Given the description of an element on the screen output the (x, y) to click on. 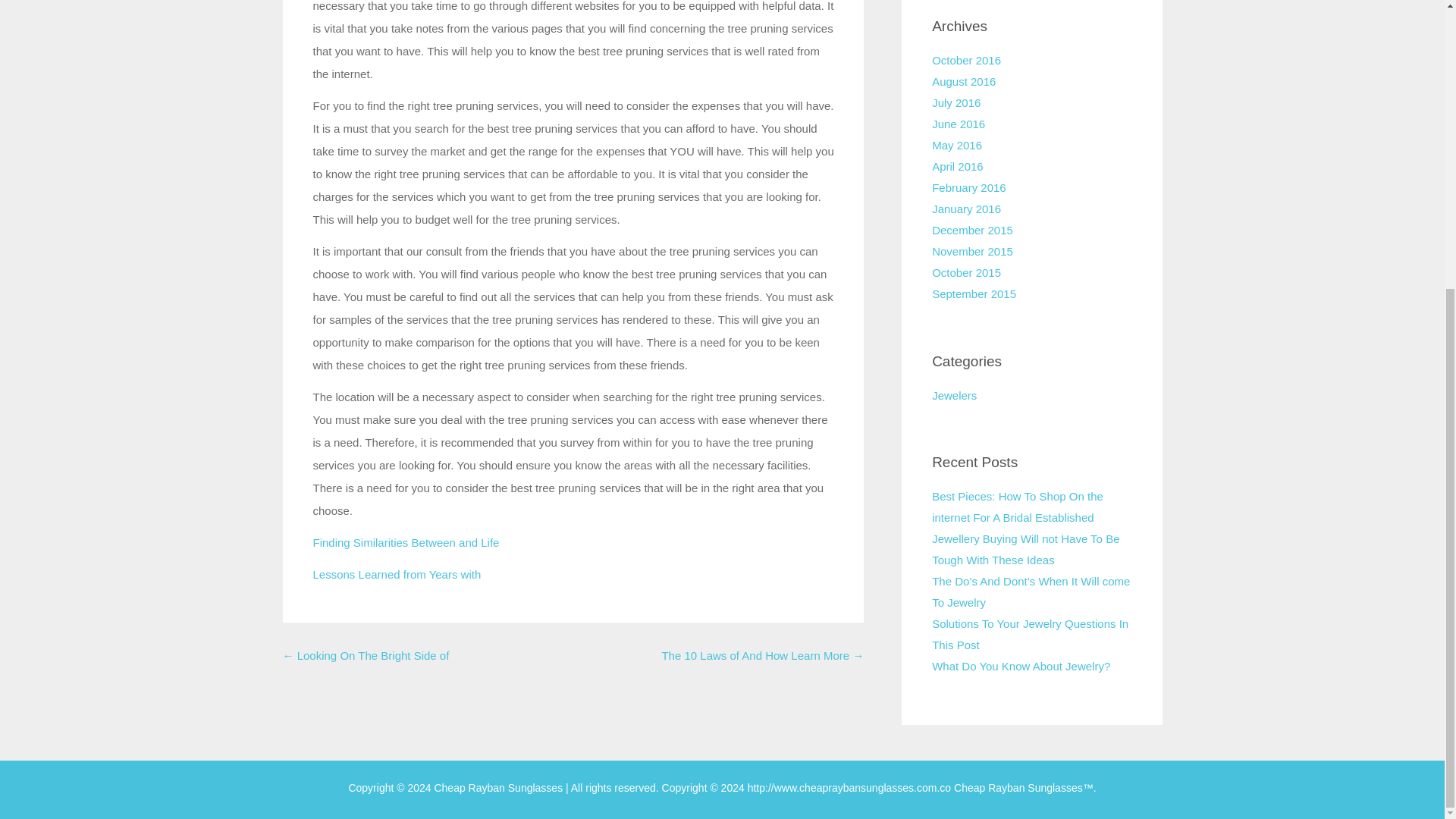
May 2016 (956, 144)
August 2016 (963, 81)
June 2016 (958, 123)
Cheap Rayban Sunglasses (499, 787)
Cheap Rayban Sunglasses (1018, 787)
Finding Similarities Between and Life (406, 542)
Jewelers (953, 395)
December 2015 (972, 229)
Lessons Learned from Years with (396, 574)
Solutions To Your Jewelry Questions In This Post (1029, 634)
October 2015 (966, 272)
April 2016 (957, 165)
September 2015 (973, 293)
February 2016 (968, 187)
